Given the description of an element on the screen output the (x, y) to click on. 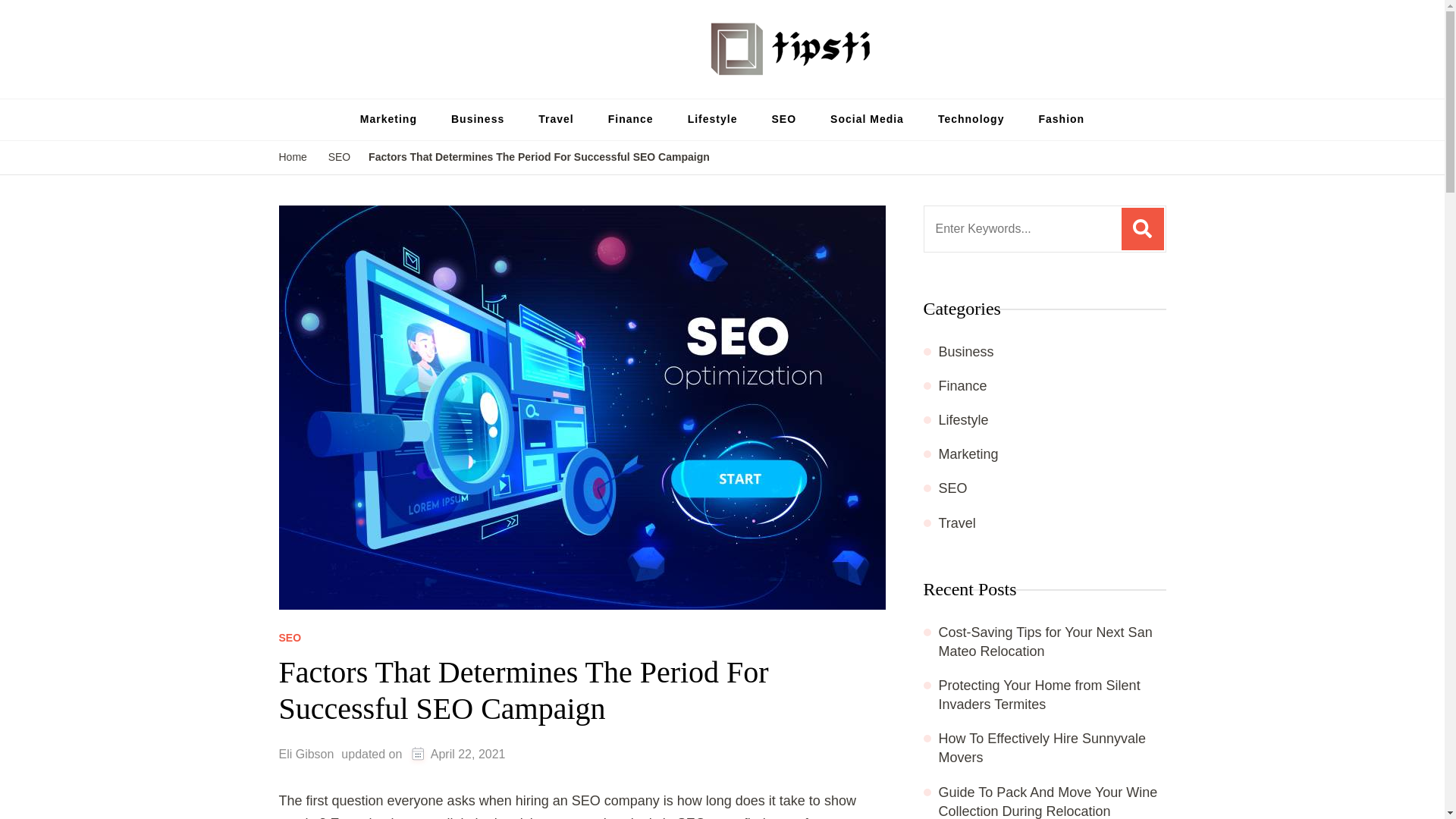
SEO (290, 637)
Technology (971, 119)
SEO (339, 157)
Fashion (1061, 119)
Social Media (866, 119)
Home (293, 157)
Search (1141, 228)
Travel (555, 119)
April 22, 2021 (467, 753)
